Given the description of an element on the screen output the (x, y) to click on. 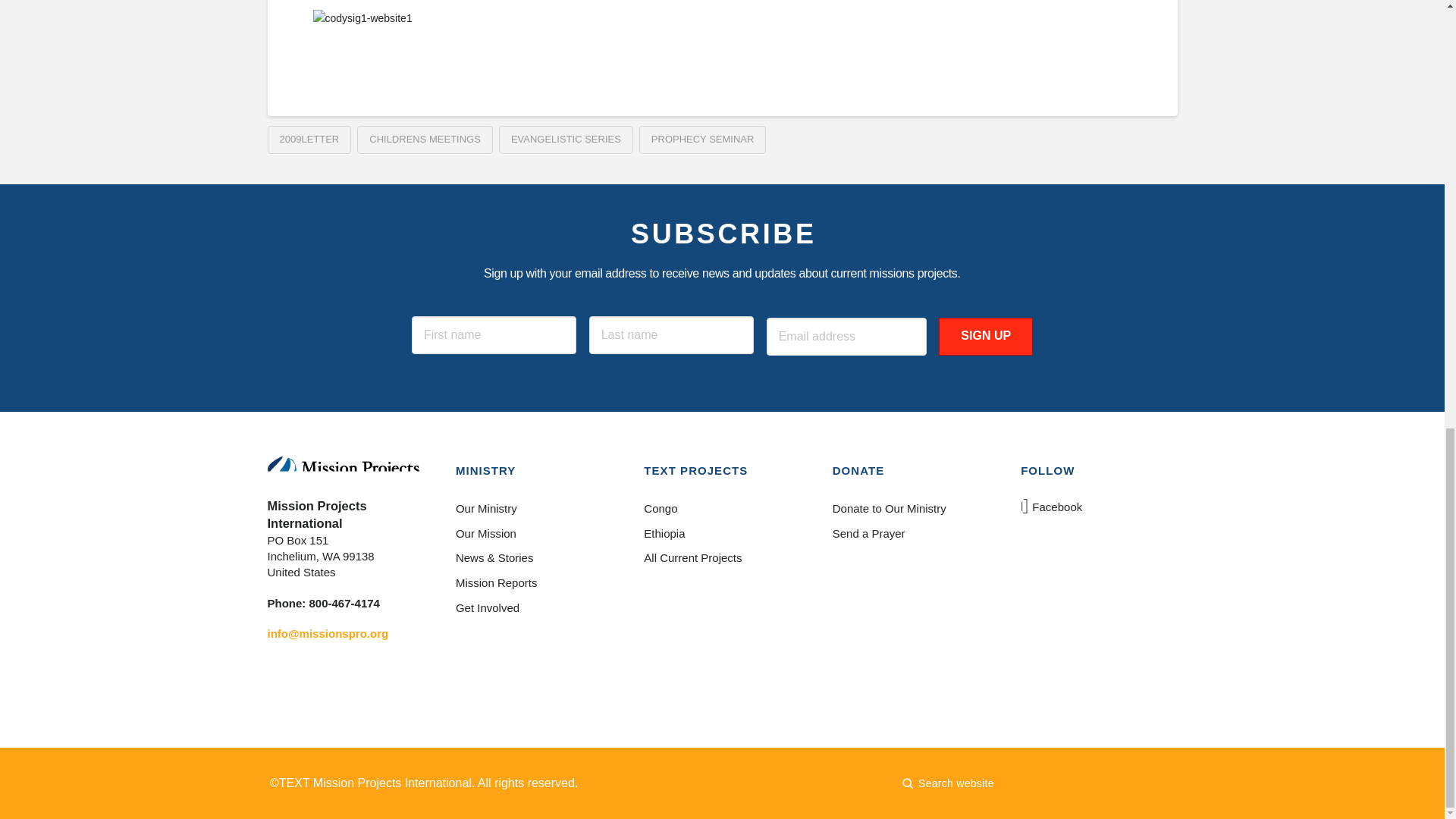
EVANGELISTIC SERIES (566, 140)
Call Us (322, 603)
Mission Reports (533, 583)
Our Mission (533, 533)
Donate to Our Ministry (910, 508)
Facebook (1053, 506)
Our Ministry (533, 508)
Phone: 800-467-4174 (322, 603)
CHILDRENS MEETINGS (424, 140)
Send a Prayer (910, 533)
Get Involved (533, 607)
2009LETTER (308, 140)
All Current Projects (721, 558)
Ethiopia (721, 533)
Send Us an Email (327, 633)
